Given the description of an element on the screen output the (x, y) to click on. 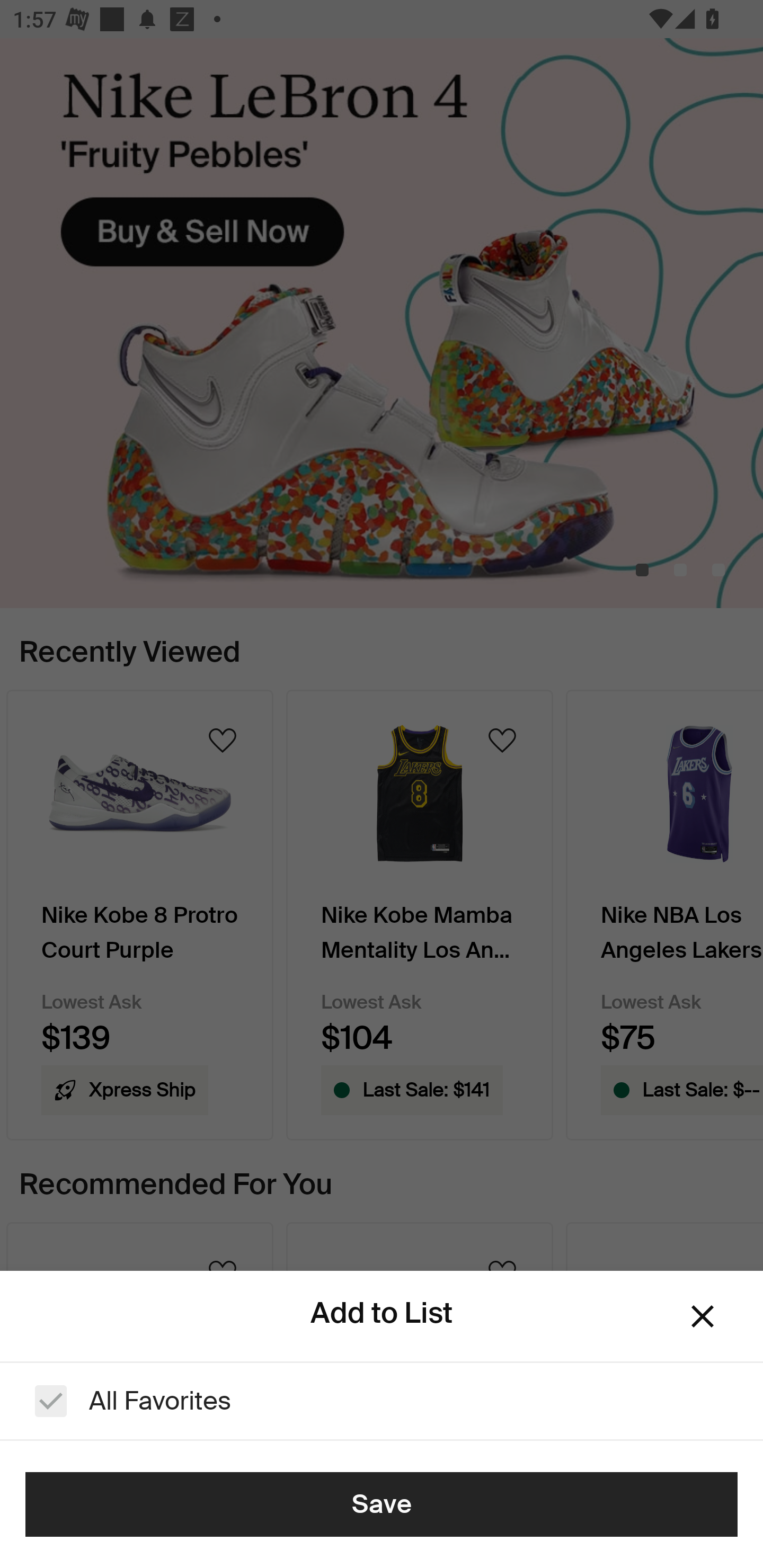
Dismiss (702, 1315)
All Favorites (381, 1400)
Save (381, 1504)
